Given the description of an element on the screen output the (x, y) to click on. 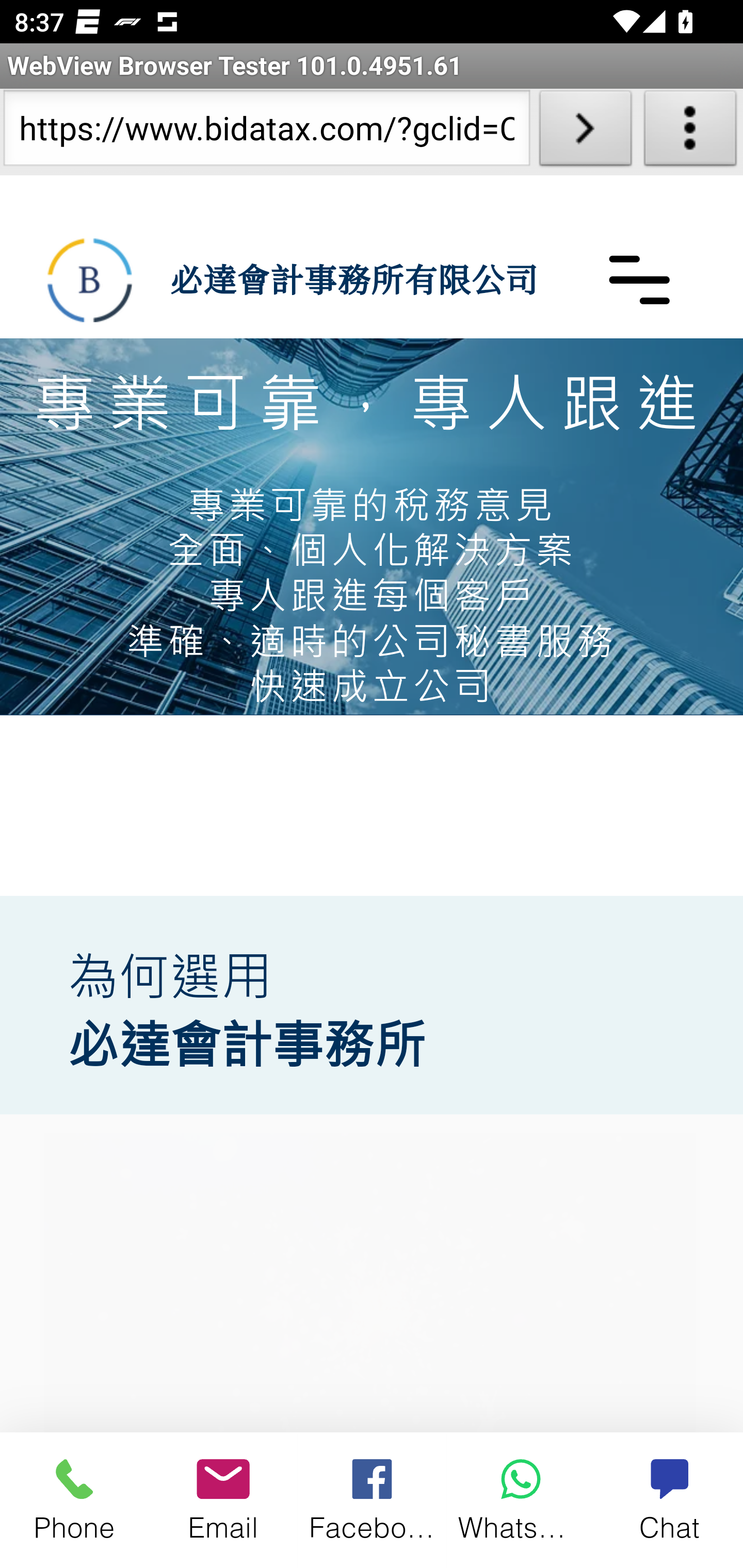
Load URL (585, 132)
About WebView (690, 132)
Open navigation menu (638, 279)
必達會計事務所有限公司 (90, 279)
必達會計事務所有限公司 (353, 278)
Phone (74, 1499)
Email (222, 1499)
Facebook (372, 1499)
WhatsApp (520, 1499)
Chat (669, 1499)
